Given the description of an element on the screen output the (x, y) to click on. 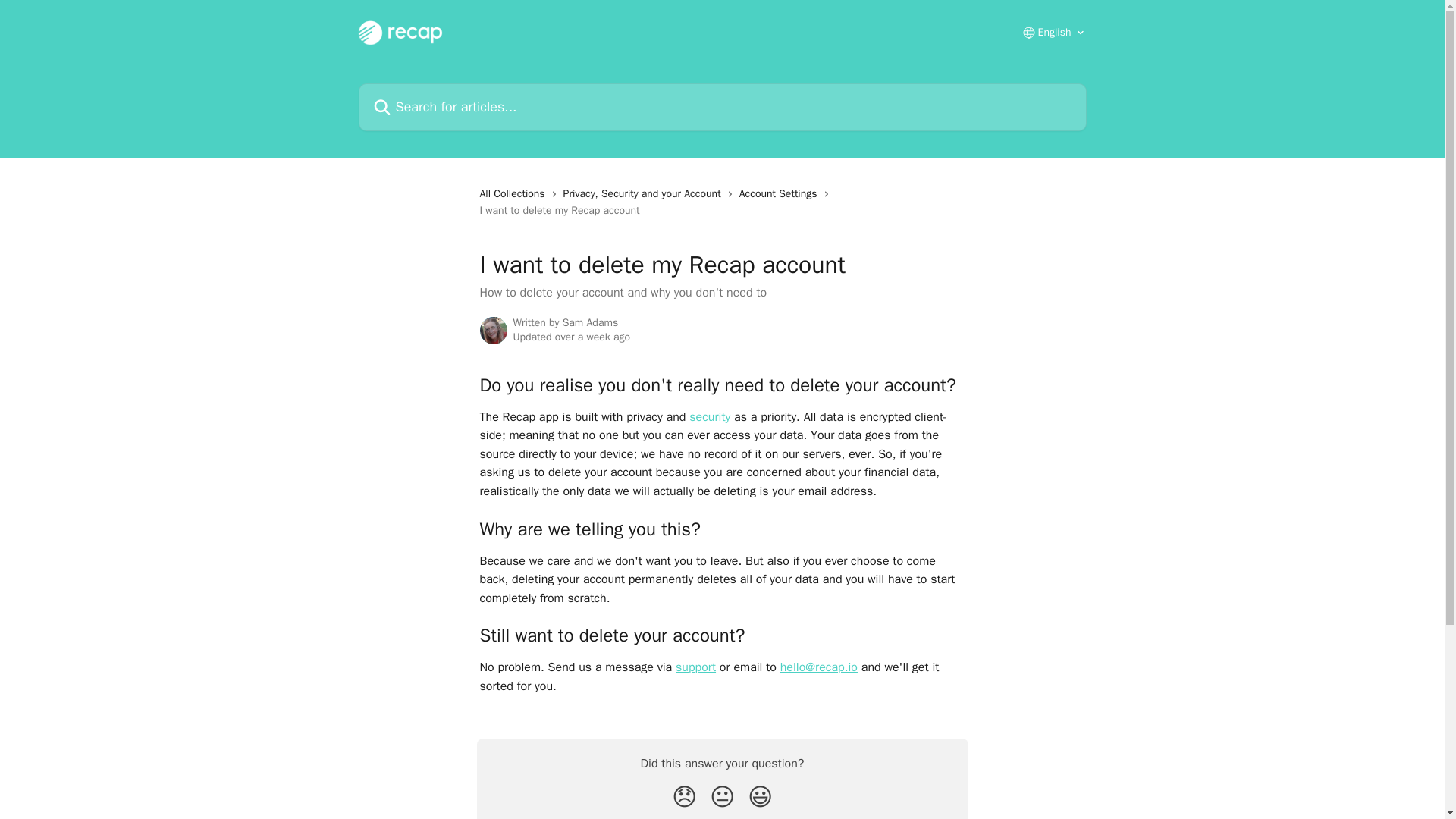
security (709, 417)
Privacy, Security and your Account (644, 193)
Account Settings (781, 193)
support (695, 667)
All Collections (514, 193)
